Given the description of an element on the screen output the (x, y) to click on. 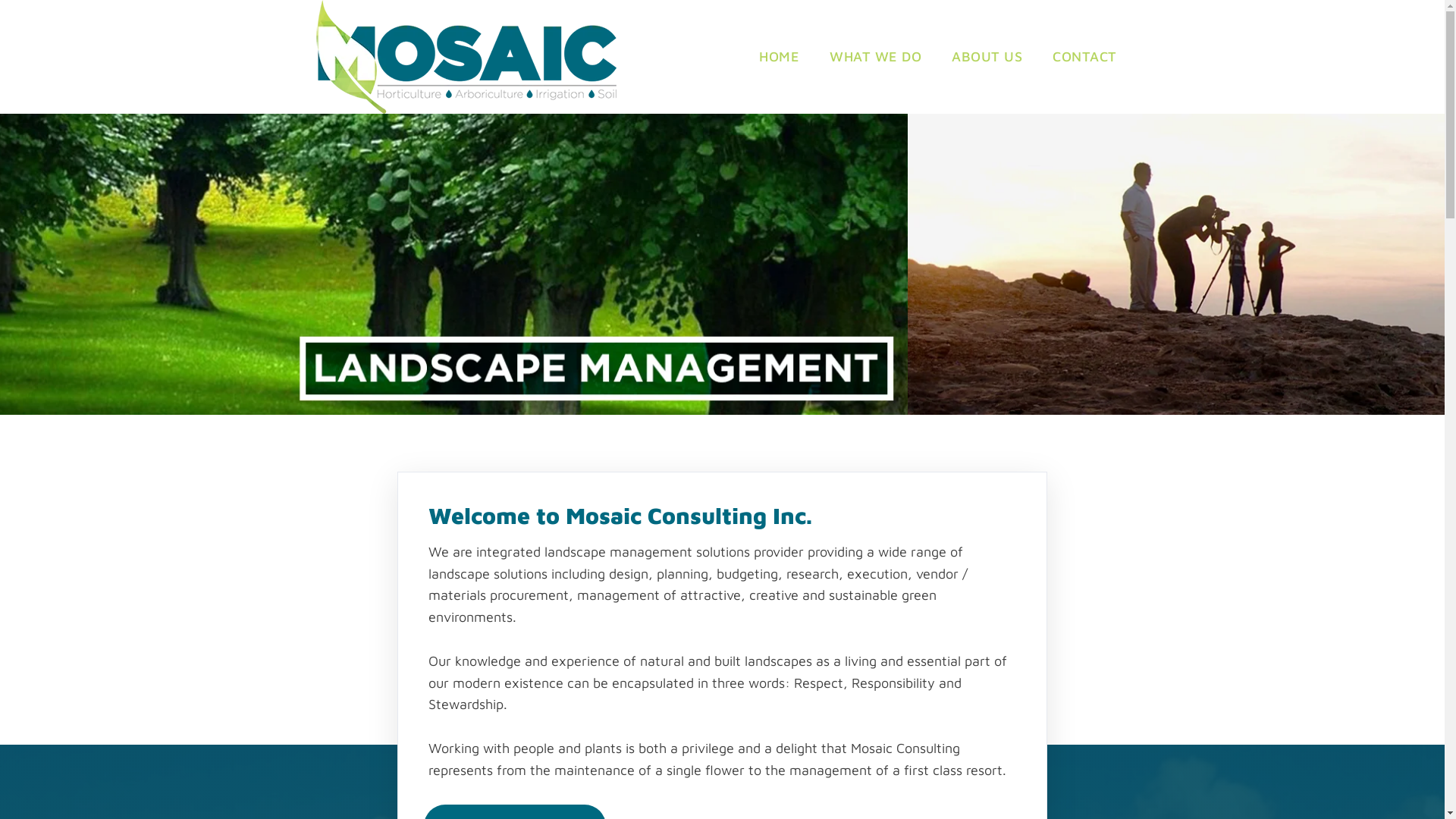
WHAT WE DO Element type: text (875, 56)
CONTACT Element type: text (1084, 56)
HOME Element type: text (778, 56)
ABOUT US Element type: text (986, 56)
